Given the description of an element on the screen output the (x, y) to click on. 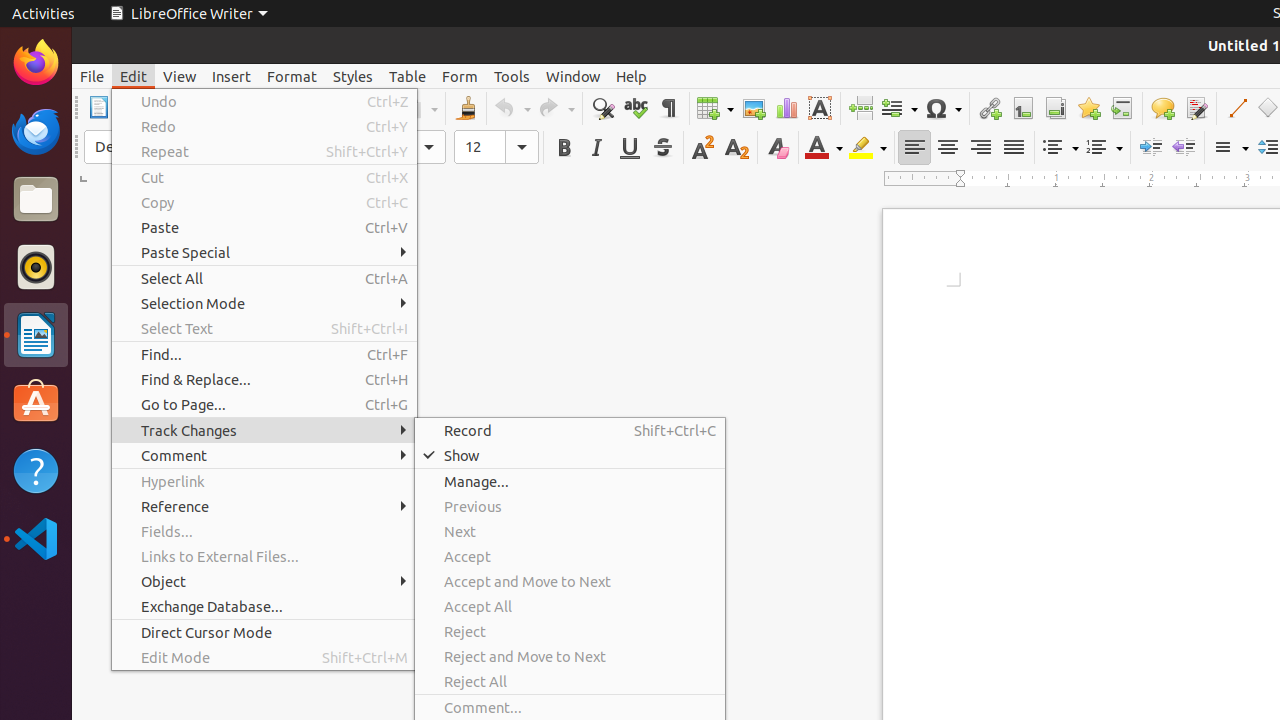
Links to External Files... Element type: menu-item (264, 556)
Visual Studio Code Element type: push-button (36, 538)
